Given the description of an element on the screen output the (x, y) to click on. 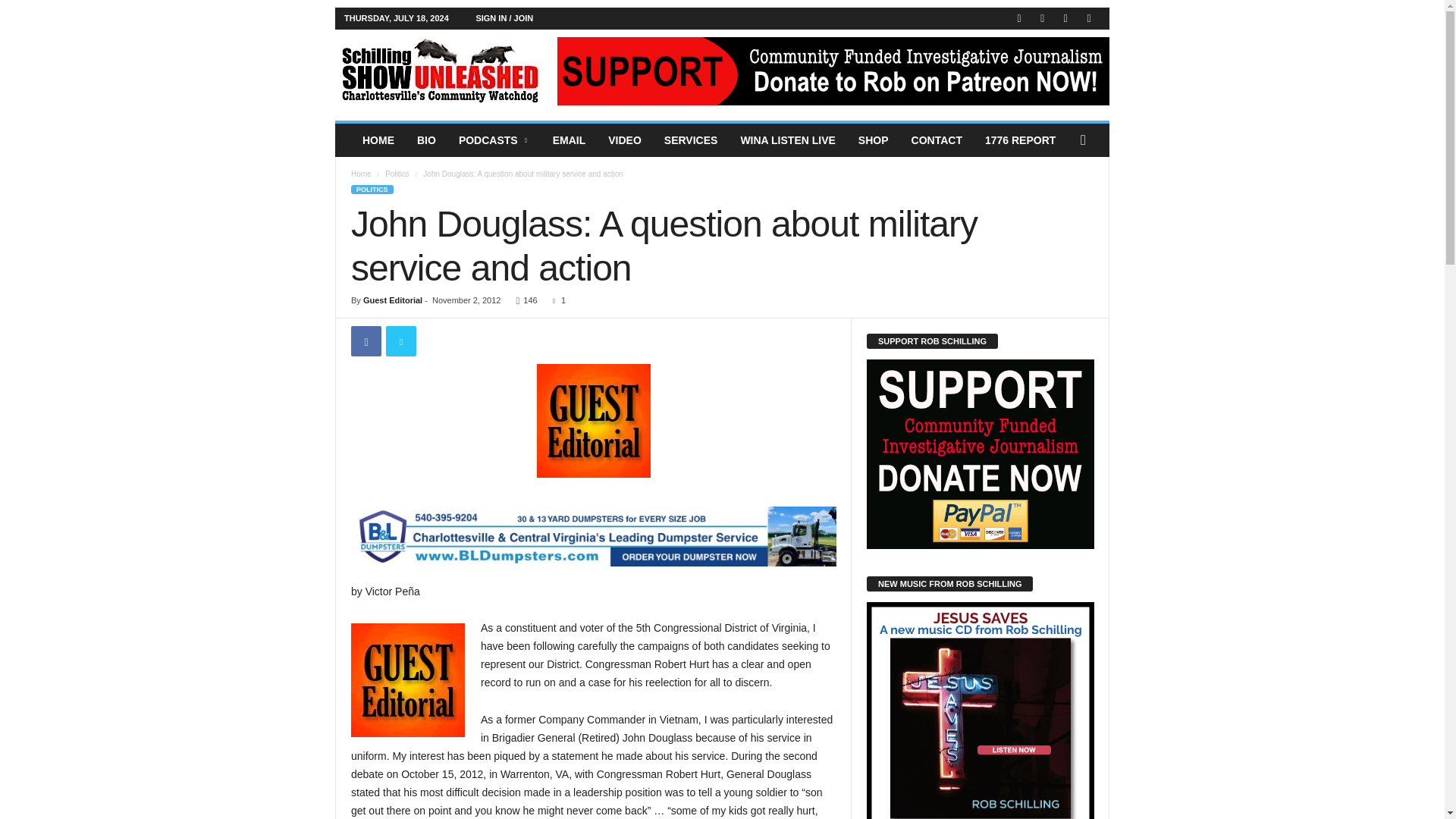
View all posts in Politics (397, 173)
EMAIL (568, 140)
Facebook (1018, 18)
PODCASTS (493, 140)
WINA LISTEN LIVE (787, 140)
SERVICES (690, 140)
Twitter (1065, 18)
Youtube (1088, 18)
HOME (378, 140)
The Schilling Show Blog (437, 70)
SHOP (873, 140)
BIO (426, 140)
